Given the description of an element on the screen output the (x, y) to click on. 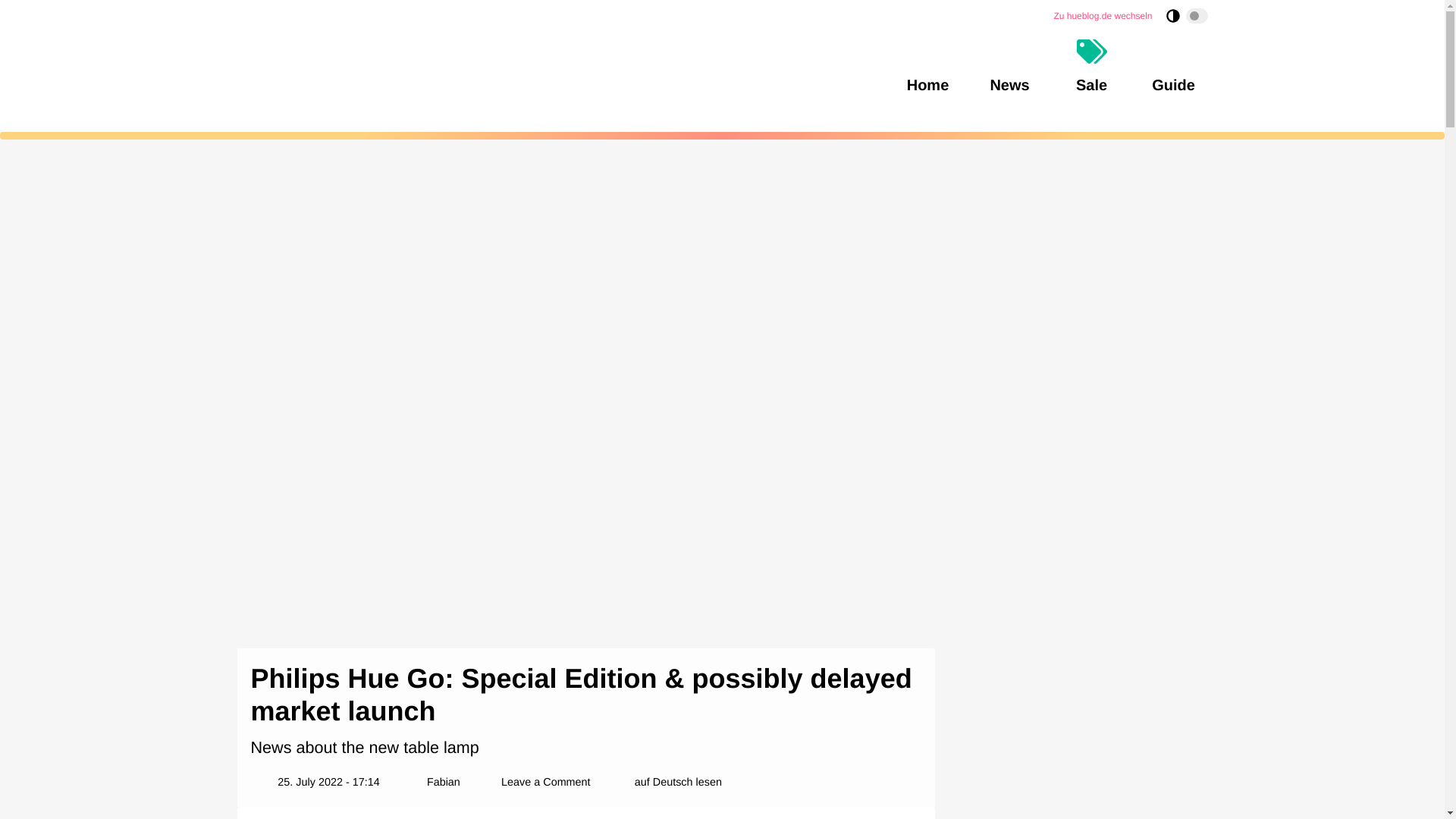
News (1009, 66)
Deutsche hueblog.de Seite aufrufen (1101, 15)
Guide (1172, 66)
Zu hueblog.de wechseln (1101, 15)
auf Deutsch lesen (678, 782)
Sale (1091, 66)
Home (926, 66)
